Given the description of an element on the screen output the (x, y) to click on. 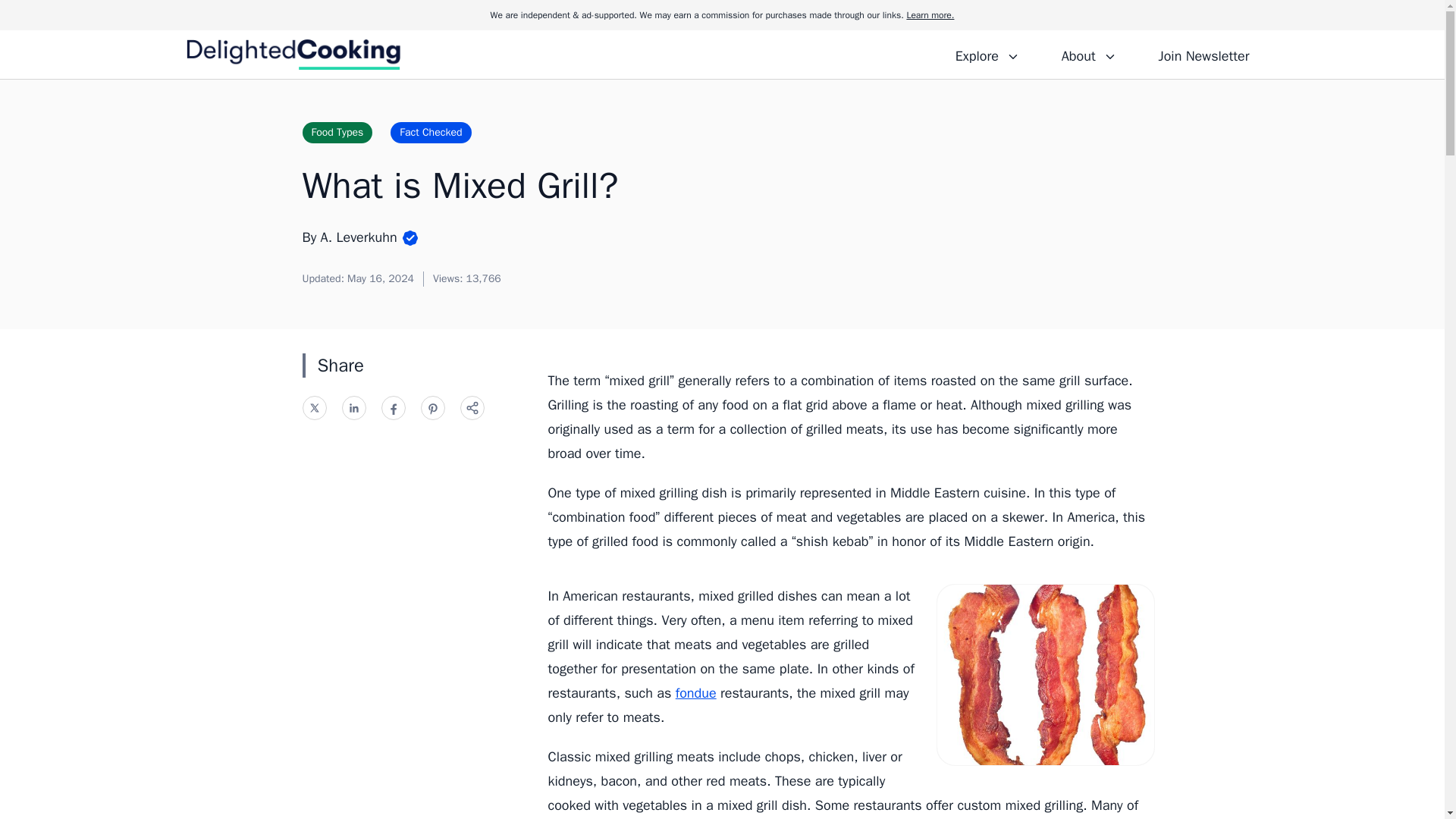
fondue (695, 692)
Join Newsletter (1202, 54)
About (1088, 54)
Explore (986, 54)
Fact Checked (430, 132)
Food Types (336, 132)
Learn more. (929, 15)
